Given the description of an element on the screen output the (x, y) to click on. 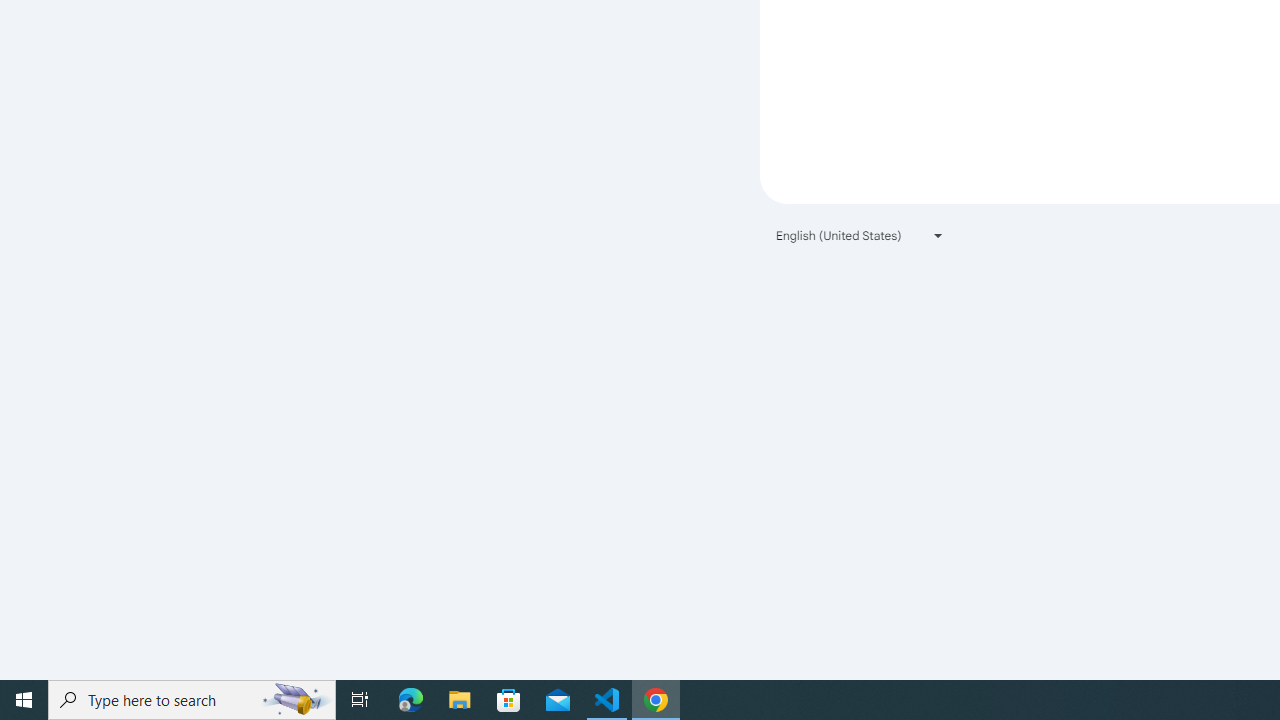
English (United States) (860, 234)
